Given the description of an element on the screen output the (x, y) to click on. 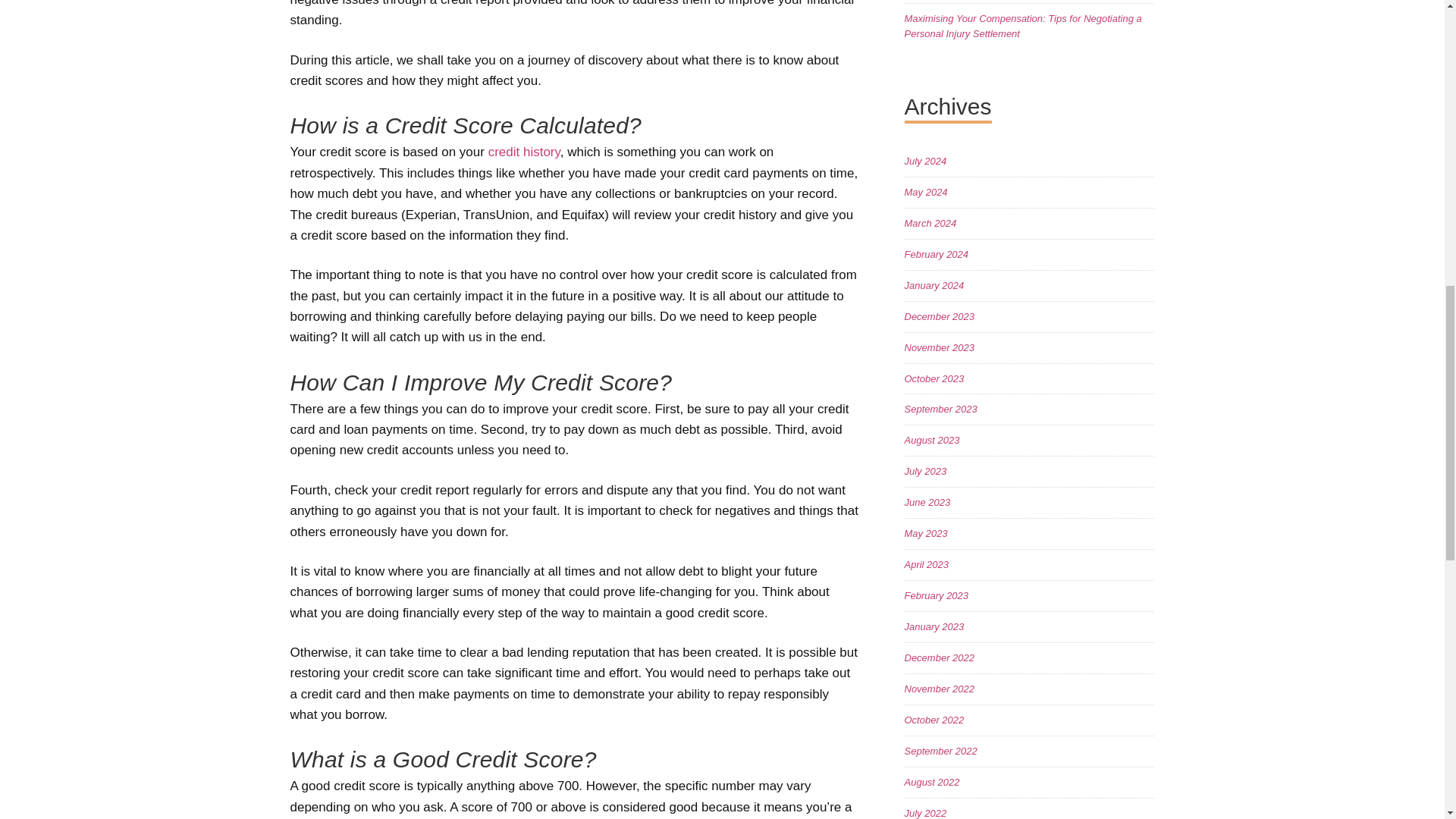
June 2023 (927, 501)
credit history (523, 151)
May 2023 (925, 532)
November 2023 (939, 347)
January 2024 (933, 285)
December 2023 (939, 316)
May 2024 (925, 192)
July 2023 (925, 471)
July 2024 (925, 161)
August 2023 (931, 439)
